Given the description of an element on the screen output the (x, y) to click on. 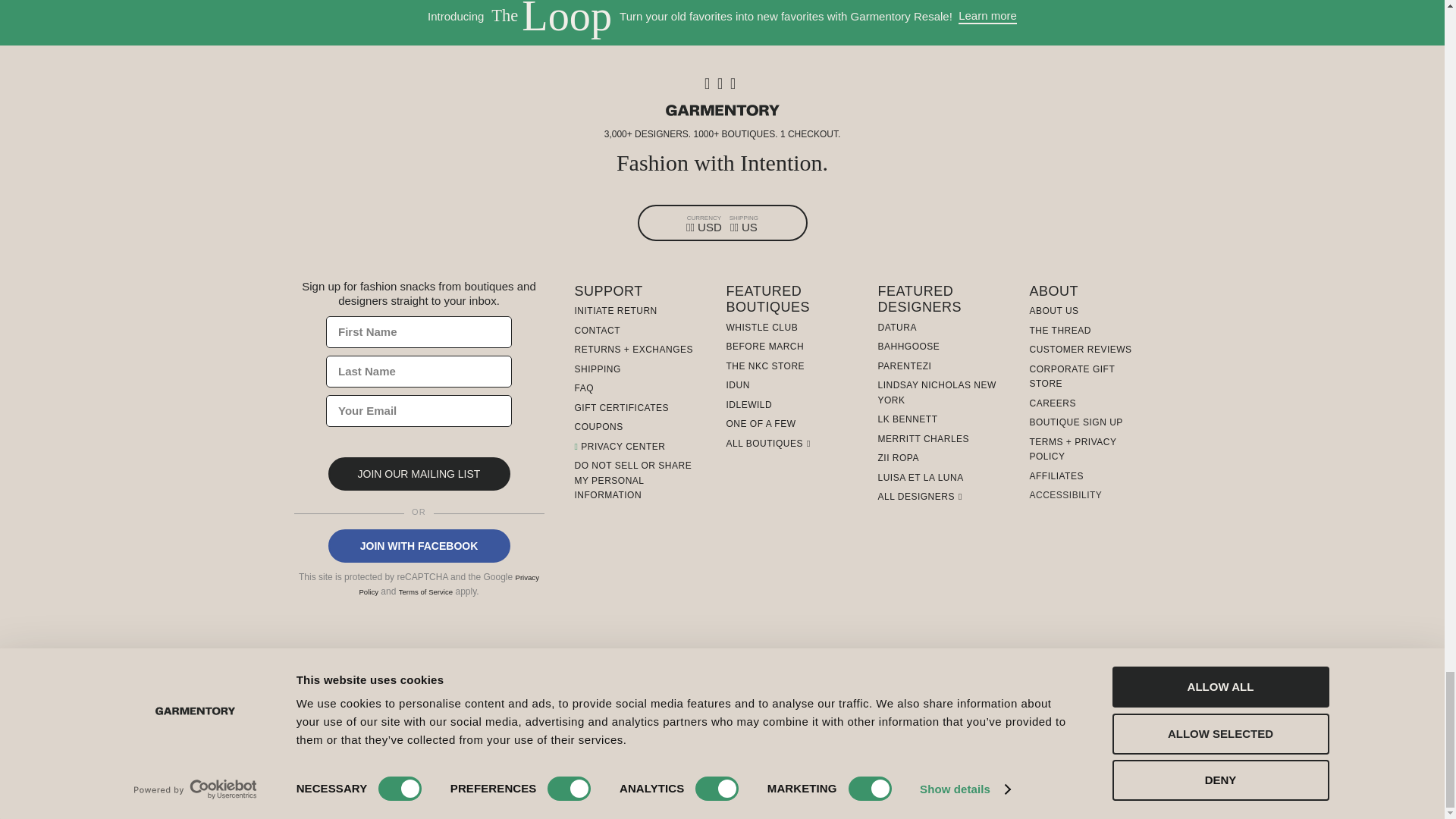
Join Our Mailing List (418, 473)
